Given the description of an element on the screen output the (x, y) to click on. 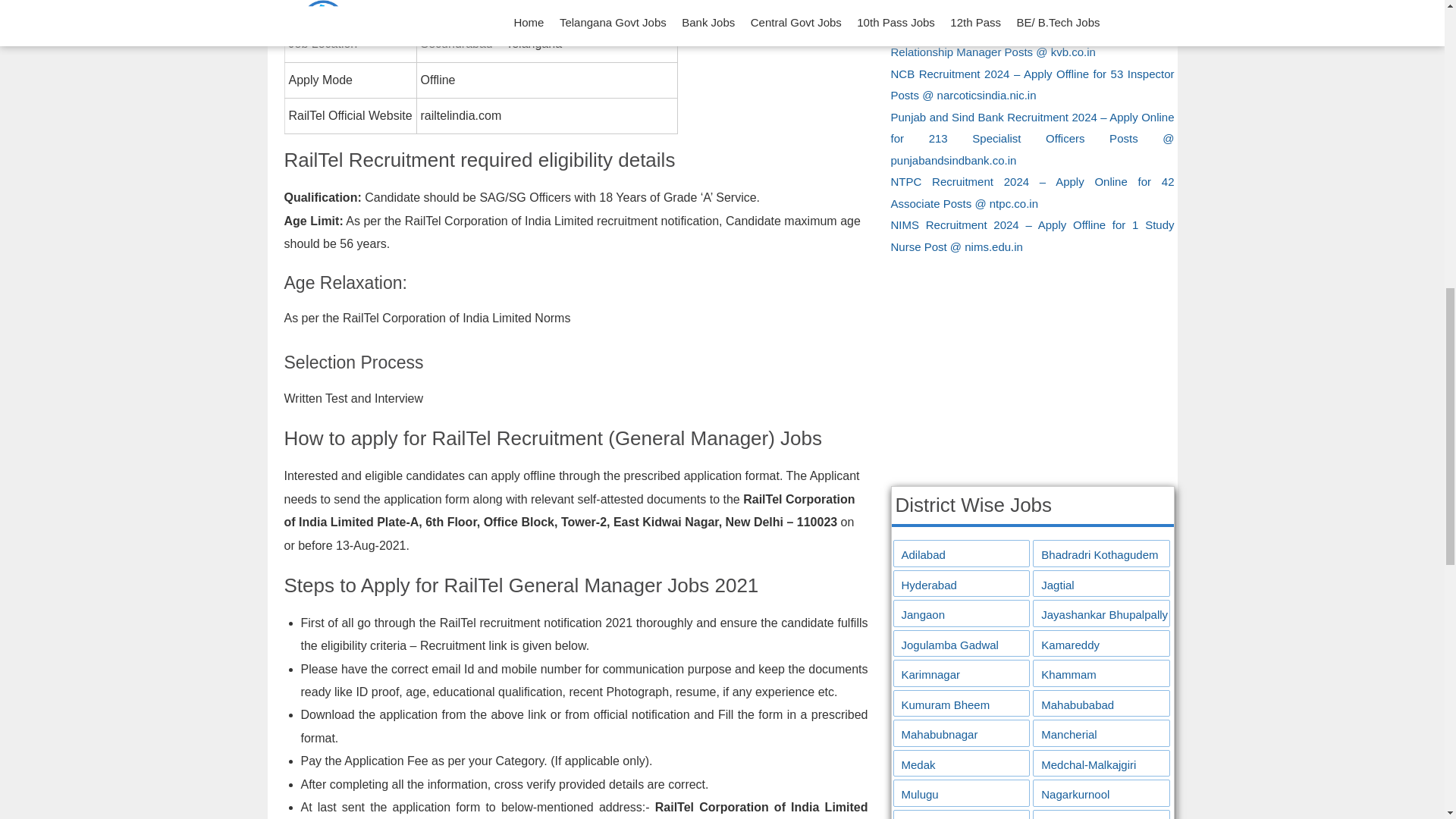
Hyderabad (961, 585)
Adilabad (961, 555)
Bhadradri Kothagudem (1101, 555)
Advertisement (1031, 367)
